Given the description of an element on the screen output the (x, y) to click on. 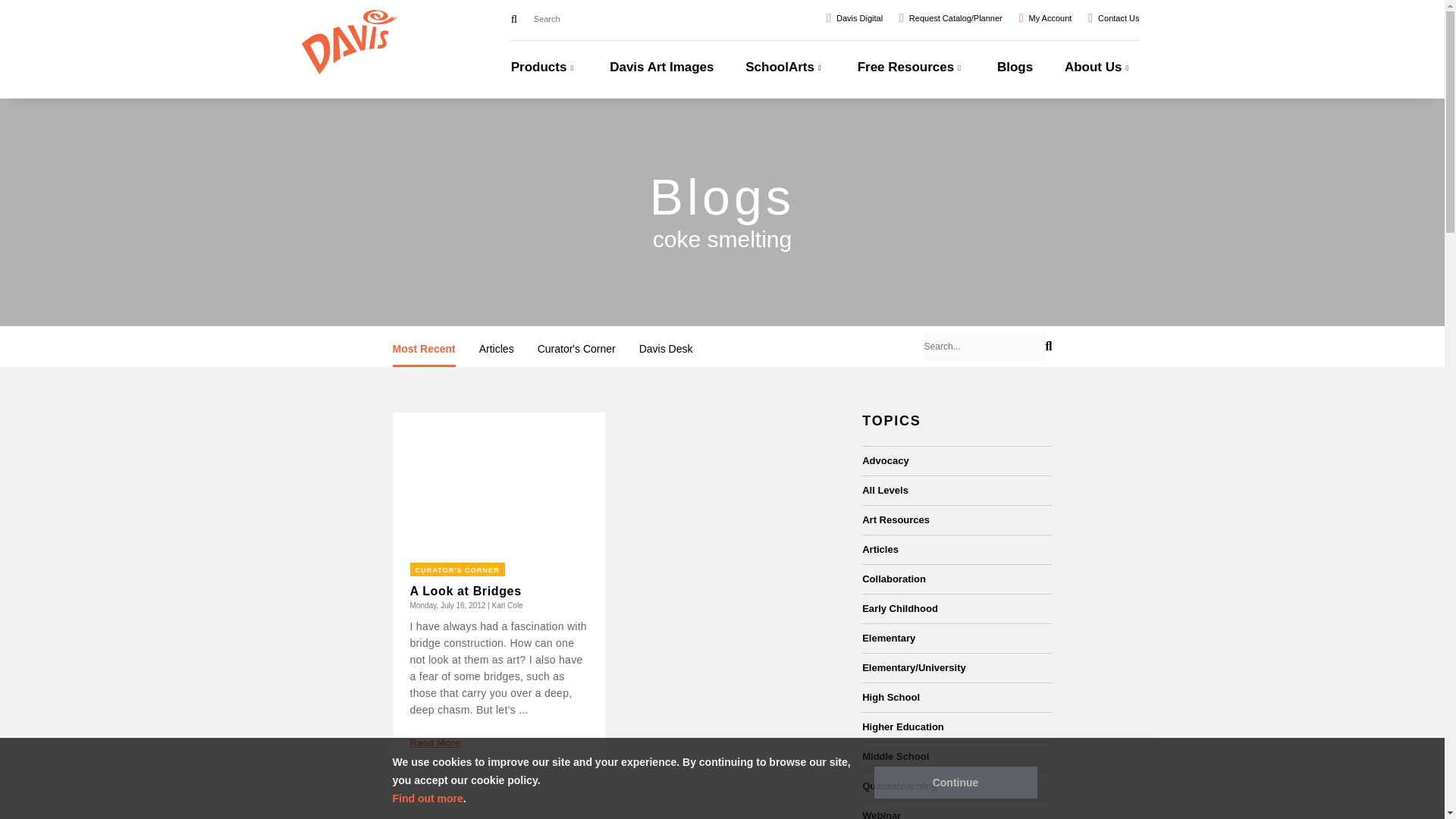
Products (544, 77)
Contact Us (1112, 16)
Contact Us (1112, 16)
Davis Digital (854, 16)
My Account (1045, 16)
Search (513, 19)
My Account (1045, 16)
Davis Digital (854, 16)
